Given the description of an element on the screen output the (x, y) to click on. 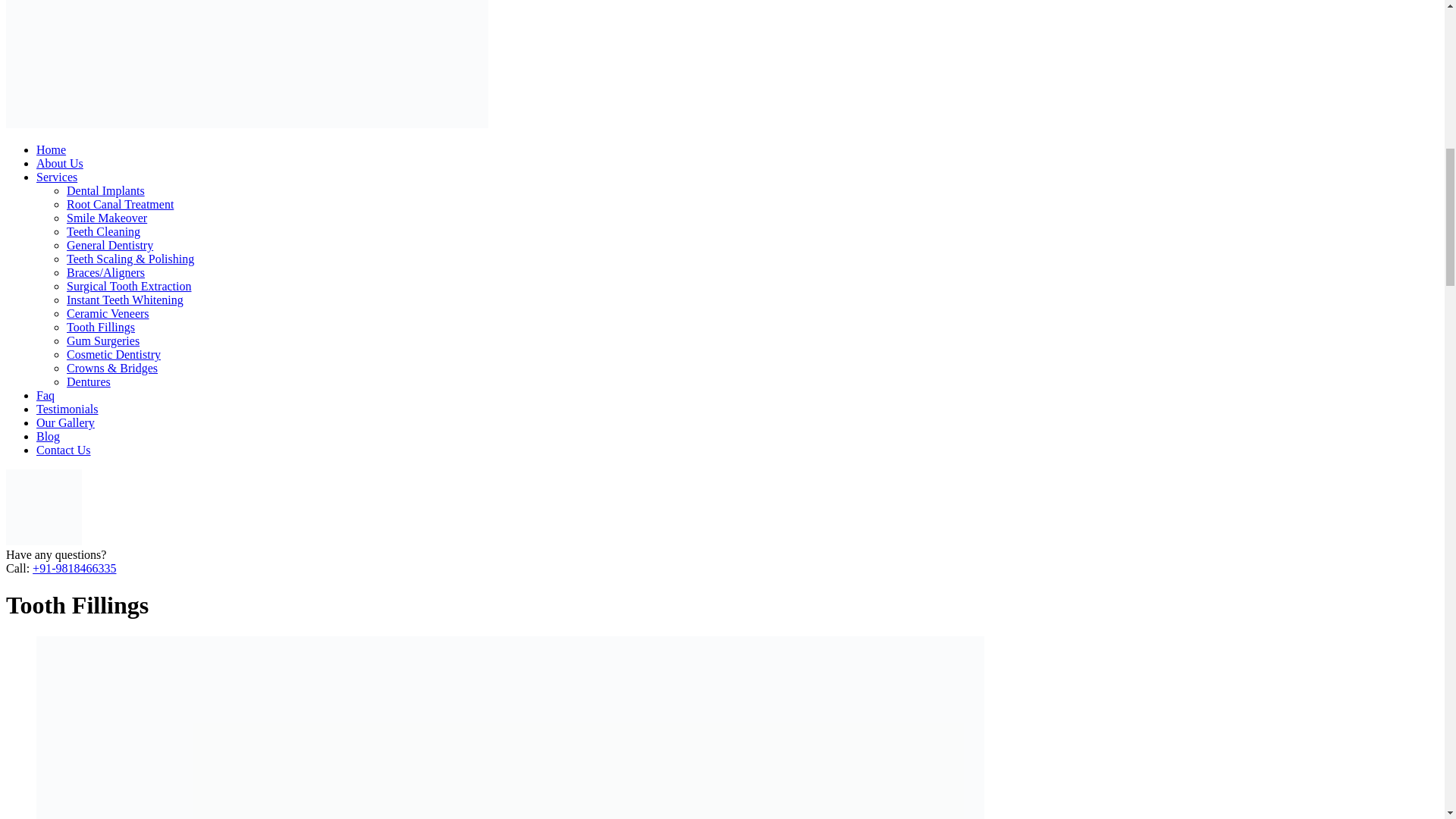
Instant Teeth Whitening (124, 299)
Root Canal Treatment (119, 204)
Surgical Tooth Extraction (128, 286)
General Dentistry (109, 245)
Home (50, 149)
Smile Makeover (106, 217)
Teeth Cleaning (102, 231)
Dental Implants (105, 190)
About Us (59, 163)
Ceramic Veneers (107, 313)
Services (56, 176)
